Given the description of an element on the screen output the (x, y) to click on. 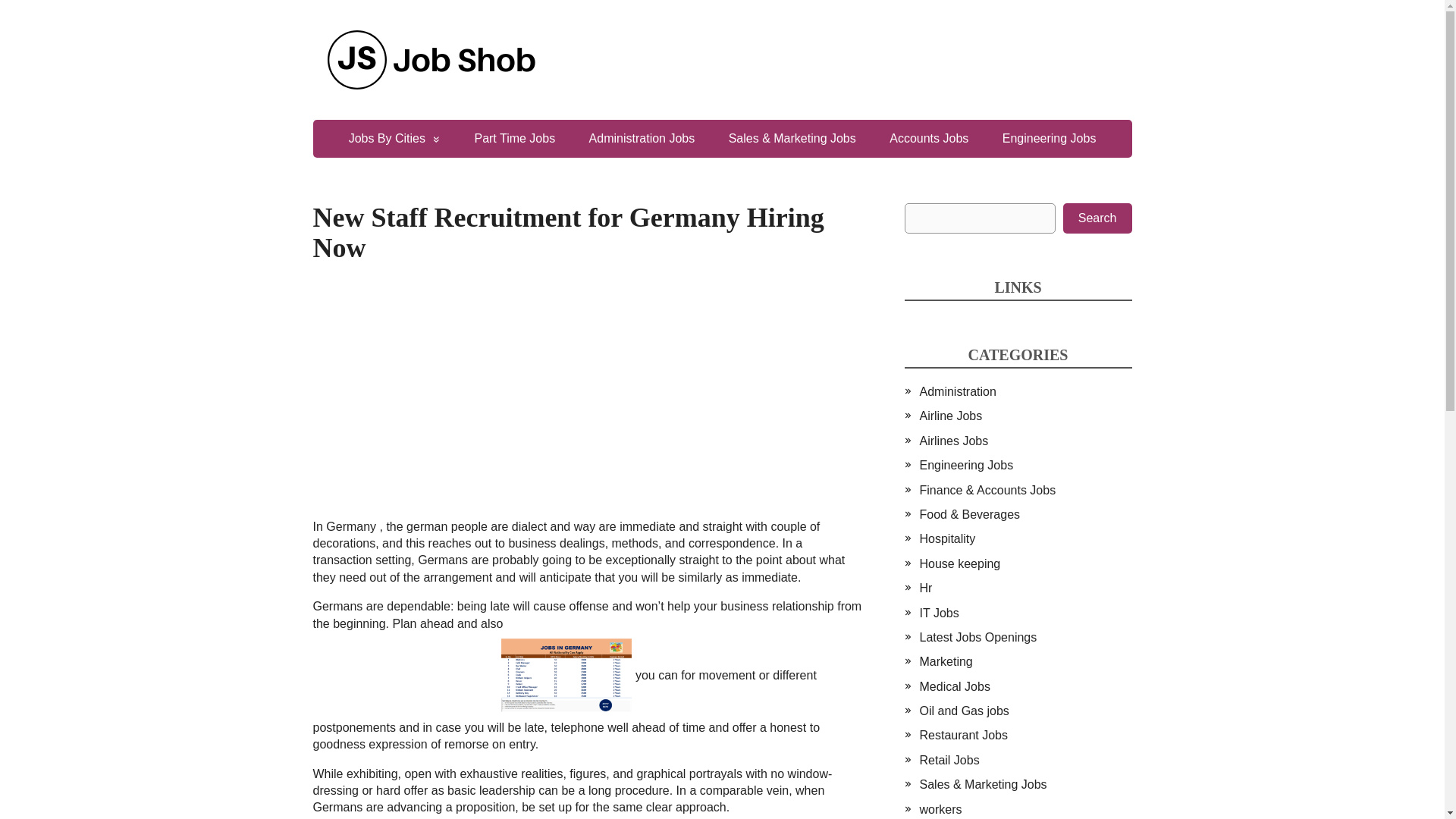
Hospitality (946, 538)
Oil and Gas jobs (963, 710)
House keeping (959, 563)
Jobs By Cities (394, 138)
Airline Jobs (949, 415)
Administration (956, 391)
Engineering Jobs (1049, 138)
Hr (924, 587)
Engineering Jobs (965, 464)
Accounts Jobs (929, 138)
